Given the description of an element on the screen output the (x, y) to click on. 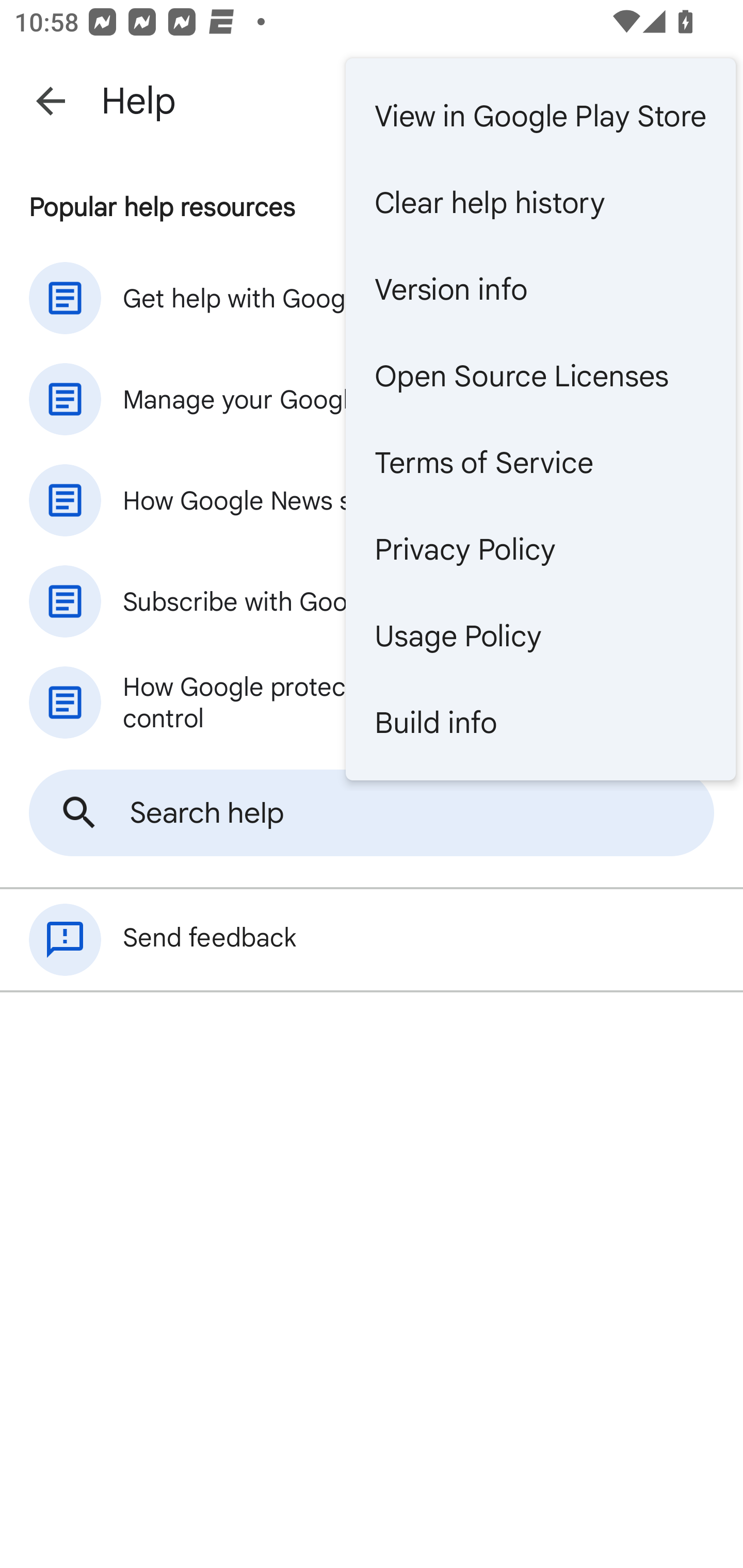
View in Google Play Store (540, 115)
Clear help history (540, 202)
Version info (540, 289)
Open Source Licenses (540, 375)
Terms of Service (540, 462)
Privacy Policy (540, 549)
Usage Policy (540, 635)
Build info (540, 721)
